Given the description of an element on the screen output the (x, y) to click on. 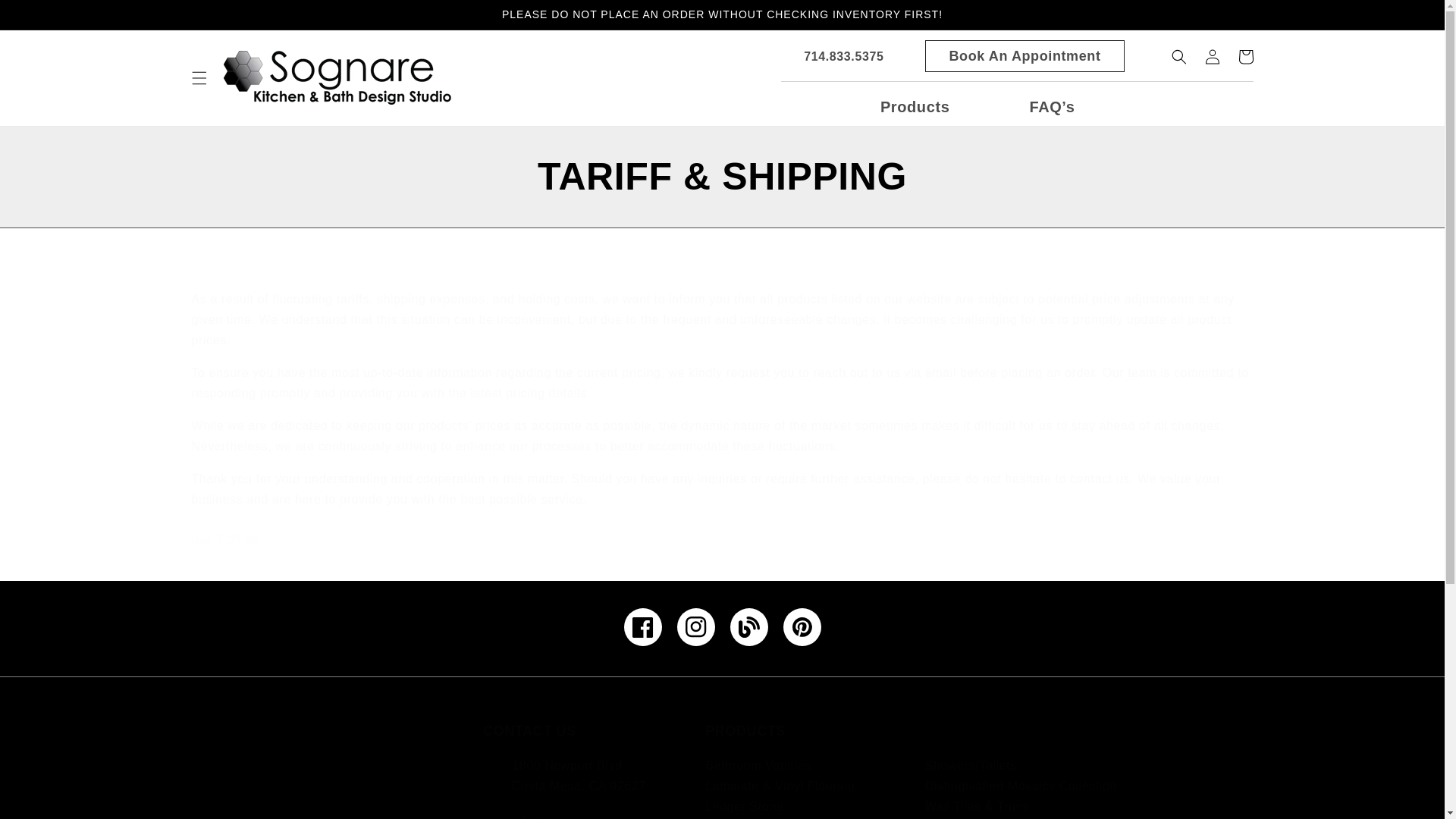
Log in (1211, 56)
Products (914, 106)
714.833.5375 (831, 56)
Skip to content (45, 17)
Book An Appointment (1024, 56)
